Given the description of an element on the screen output the (x, y) to click on. 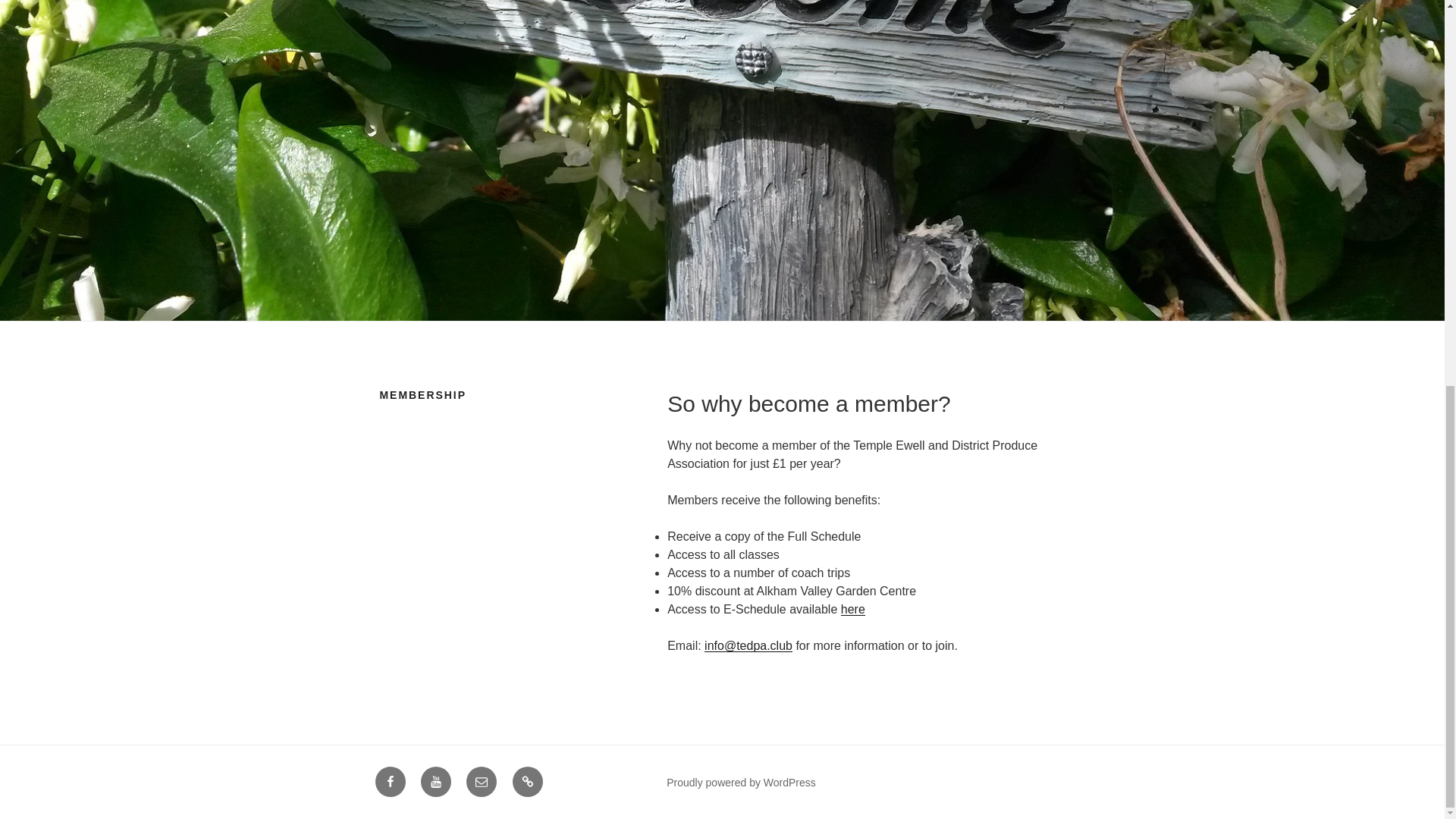
Proudly powered by WordPress (740, 782)
here (852, 608)
Youtube (435, 781)
Facebook (389, 781)
Useful Links (527, 781)
Email (480, 781)
